Given the description of an element on the screen output the (x, y) to click on. 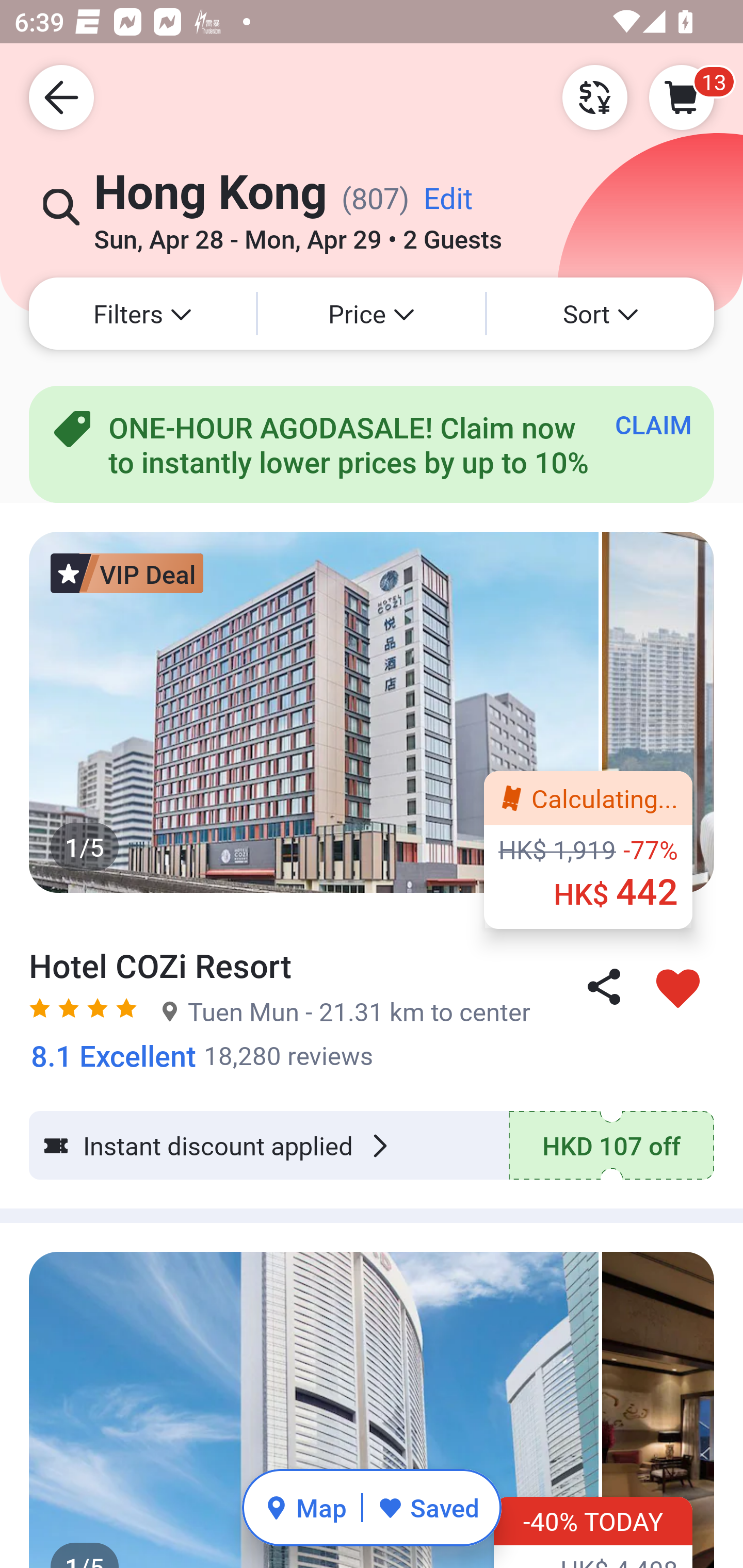
Filters (141, 313)
Price (371, 313)
Sort (600, 313)
CLAIM (653, 424)
VIP Deal (126, 572)
1/5 (371, 711)
Calculating... ‪HK$ 1,919 -77% ‪HK$ 442 (587, 849)
Instant discount applied HKD 107 off (371, 1145)
1/5 (371, 1409)
Map (305, 1507)
Saved (428, 1507)
-40% TODAY ‪HK$ 4,408 (593, 1532)
